Given the description of an element on the screen output the (x, y) to click on. 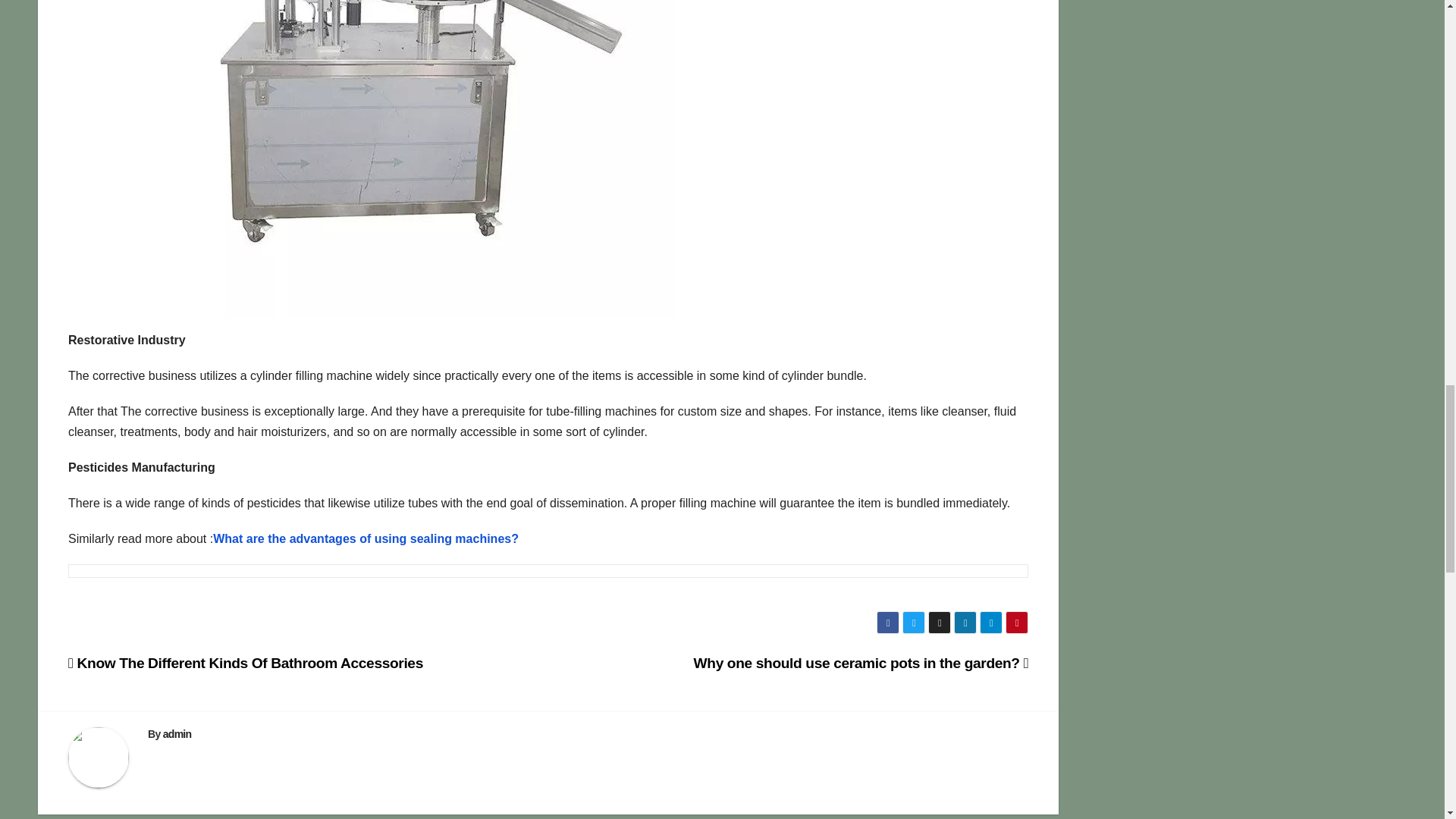
Why one should use ceramic pots in the garden? (861, 662)
Know The Different Kinds Of Bathroom Accessories (245, 662)
admin (177, 734)
What are the advantages of using sealing machines? (365, 538)
